Given the description of an element on the screen output the (x, y) to click on. 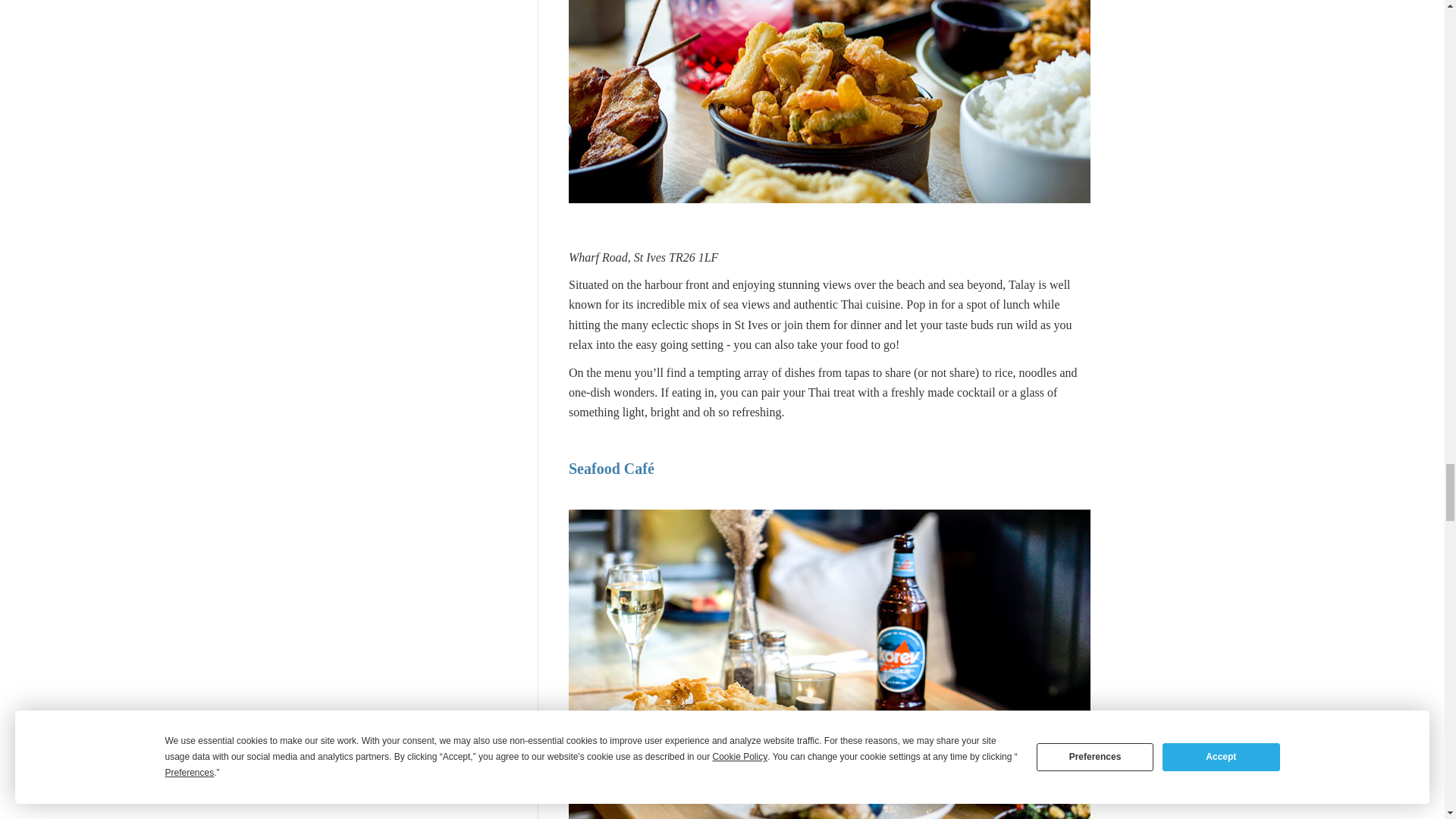
Image by Talay Thai Kitchen (829, 101)
